Given the description of an element on the screen output the (x, y) to click on. 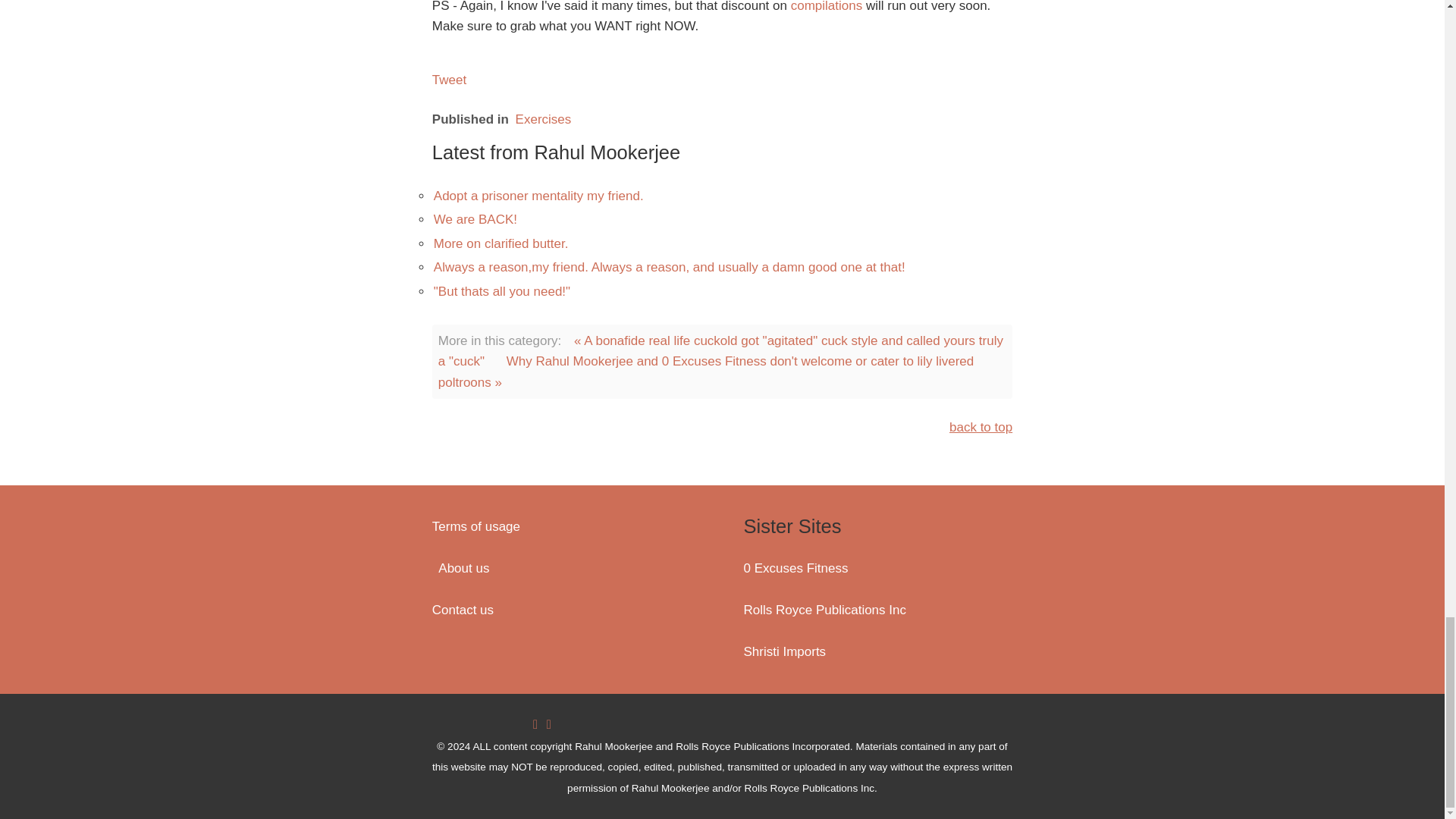
Adopt a prisoner mentality my friend. (538, 196)
More on clarified butter. (501, 243)
0 Excuses Fitness (794, 568)
Terms of usage (478, 526)
compilations (826, 6)
back to top (980, 427)
Tweet (448, 79)
Exercises (543, 119)
About us (463, 568)
